Given the description of an element on the screen output the (x, y) to click on. 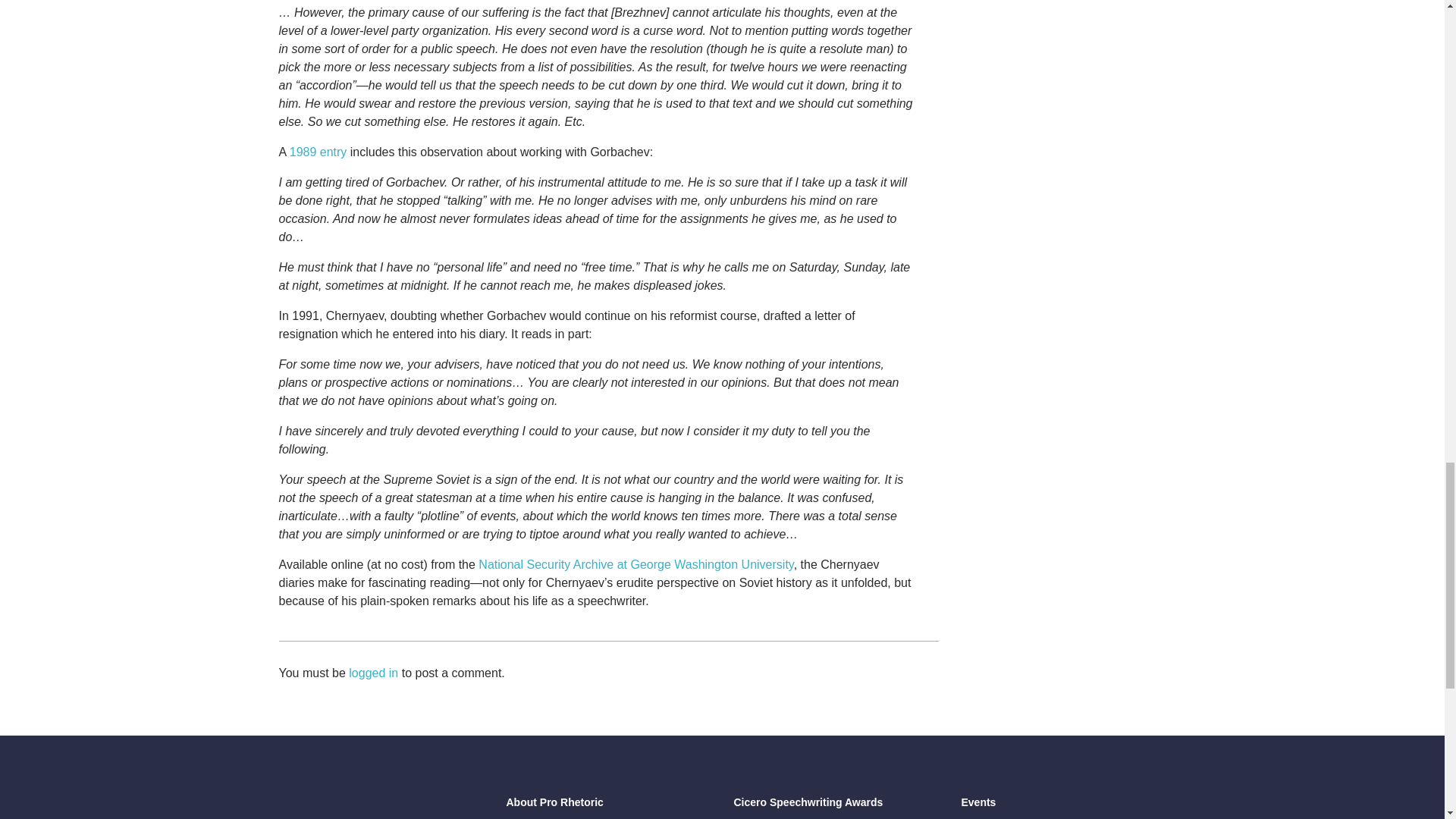
1989 entry (318, 151)
